Given the description of an element on the screen output the (x, y) to click on. 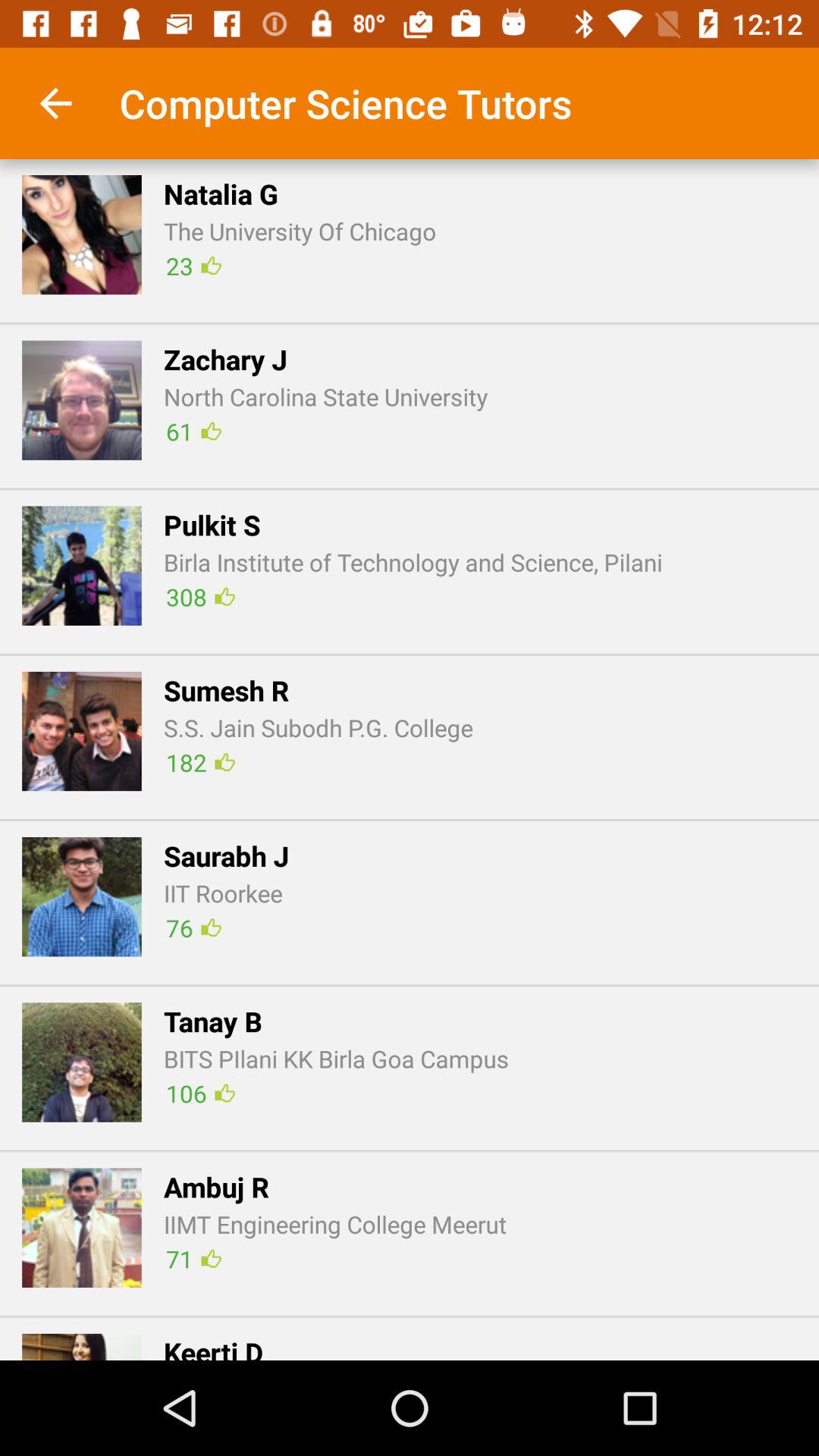
select the icon next to the computer science tutors app (55, 103)
